Given the description of an element on the screen output the (x, y) to click on. 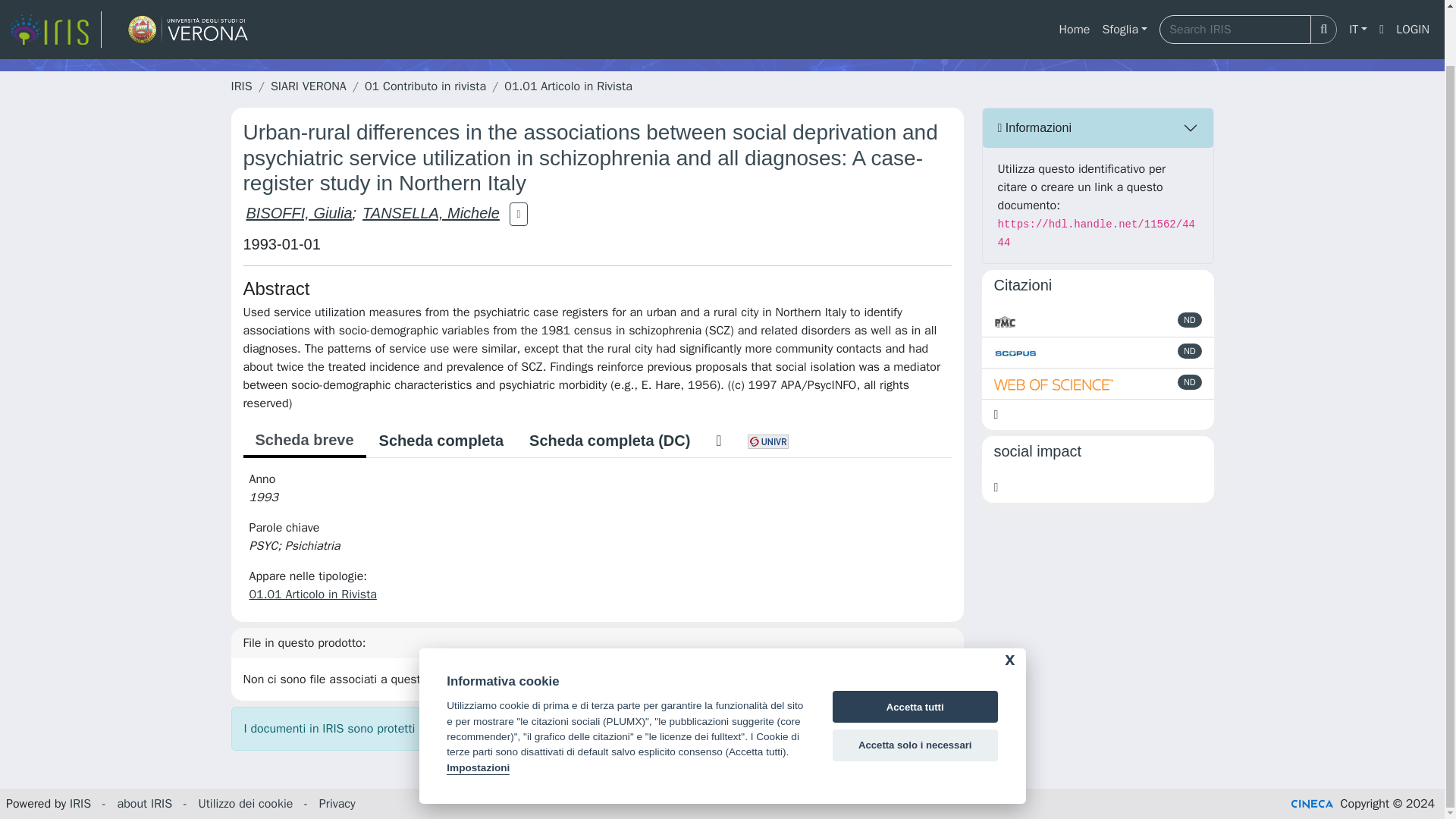
SIARI VERONA (308, 86)
IRIS (240, 86)
TANSELLA, Michele (430, 212)
01 Contributo in rivista (425, 86)
Scheda breve (304, 441)
01.01 Articolo in Rivista (567, 86)
BISOFFI, Giulia (299, 212)
01.01 Articolo in Rivista (311, 594)
Scheda completa (441, 440)
 Informazioni (1097, 128)
